Given the description of an element on the screen output the (x, y) to click on. 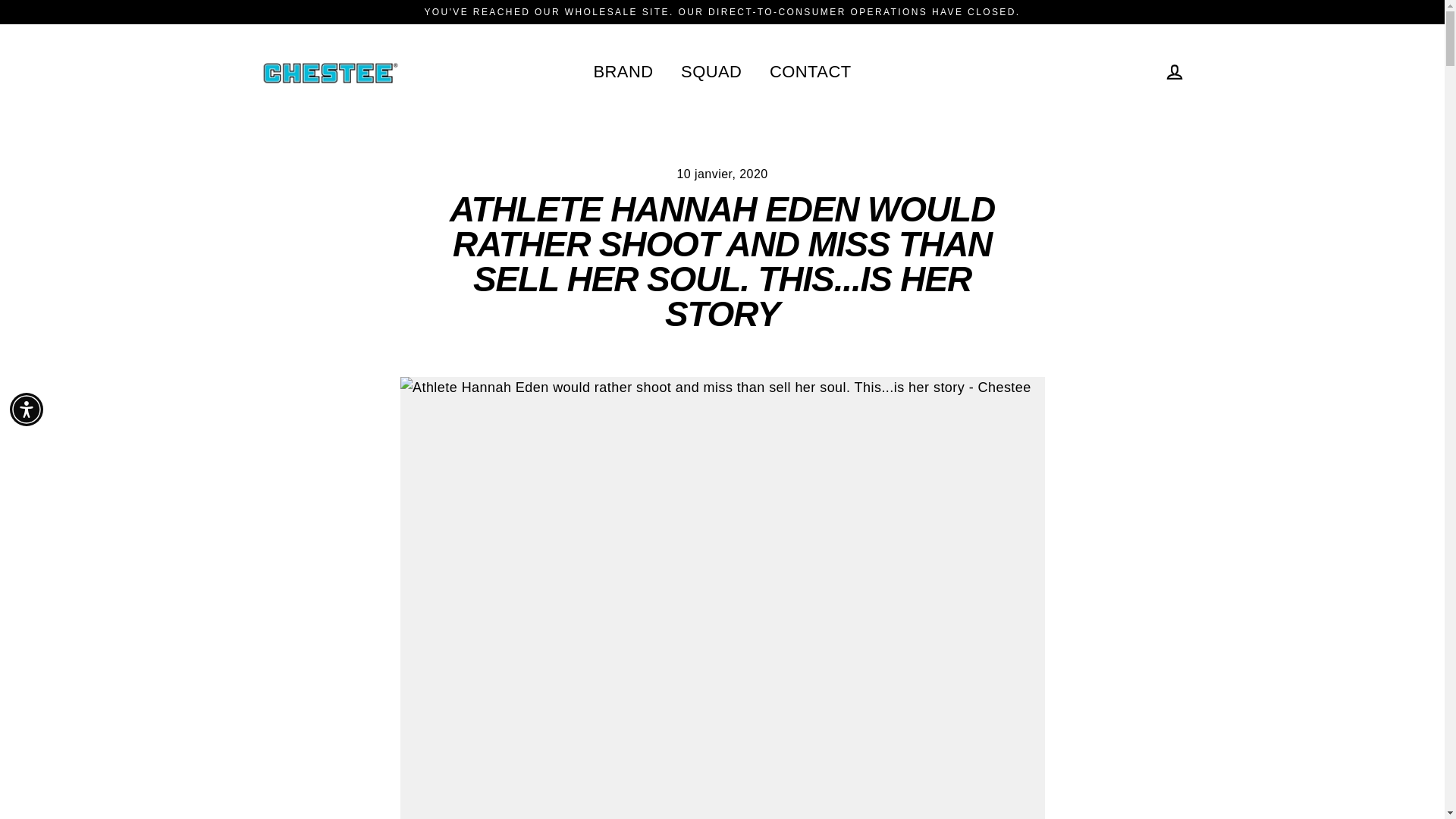
BRAND (621, 71)
SQUAD (710, 71)
